Given the description of an element on the screen output the (x, y) to click on. 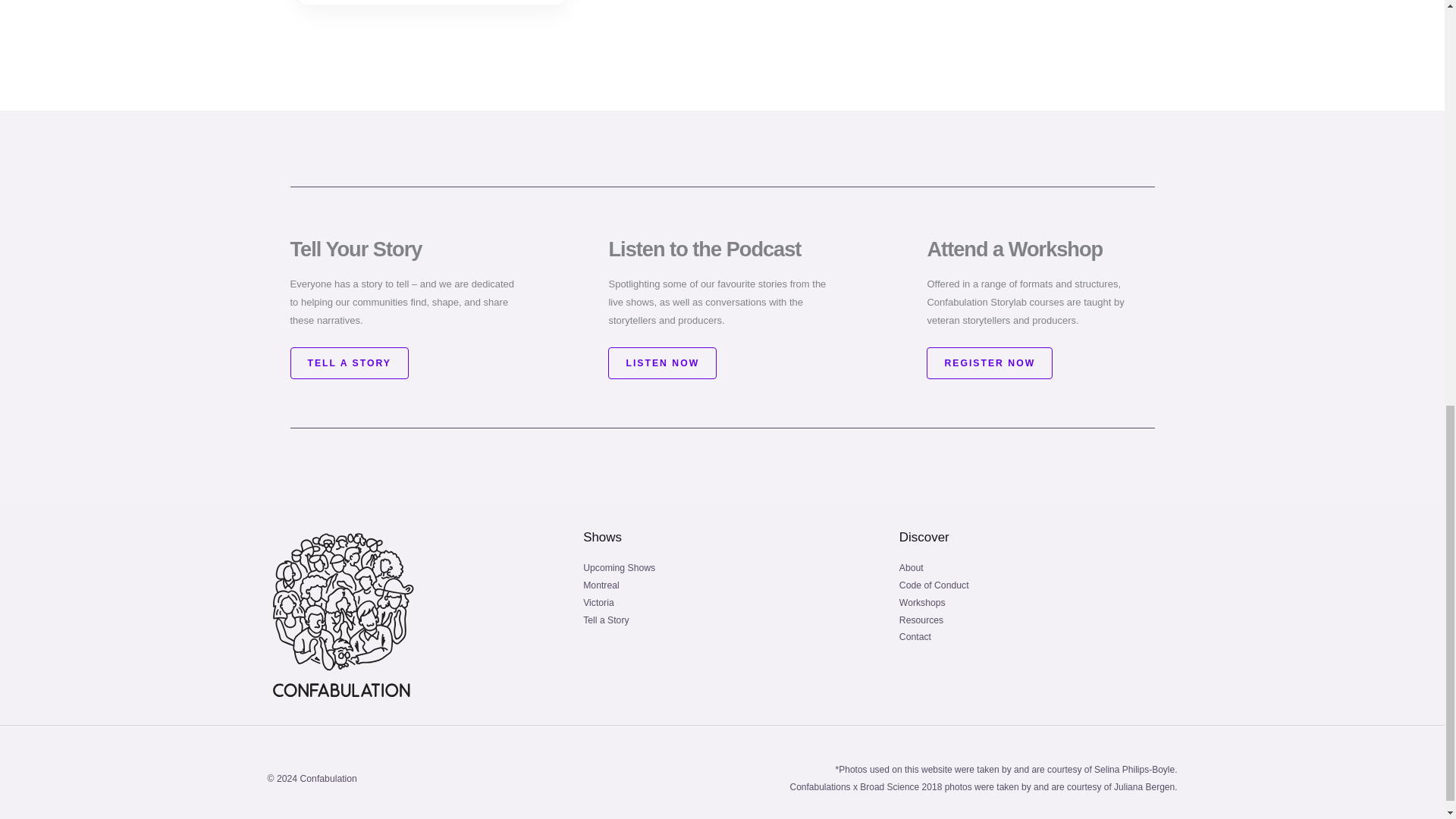
LISTEN NOW (662, 363)
TELL A STORY (348, 363)
REGISTER NOW (989, 363)
